Given the description of an element on the screen output the (x, y) to click on. 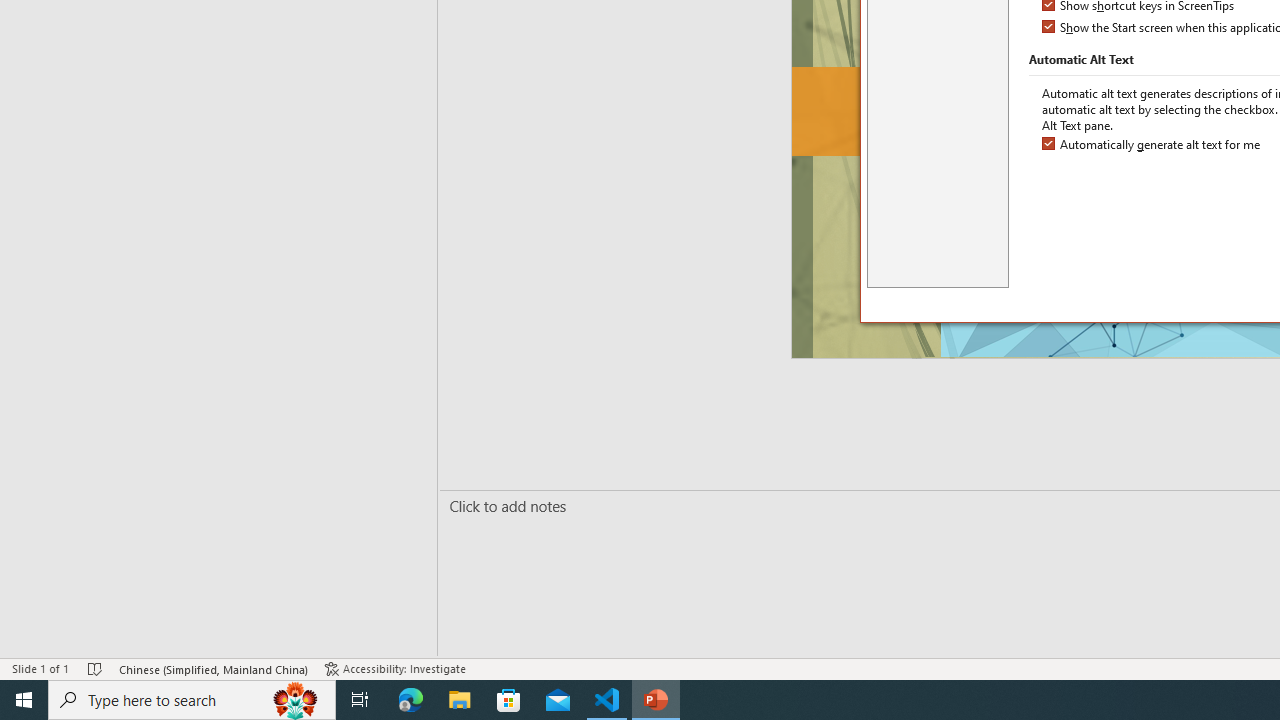
Automatically generate alt text for me (1152, 145)
